Given the description of an element on the screen output the (x, y) to click on. 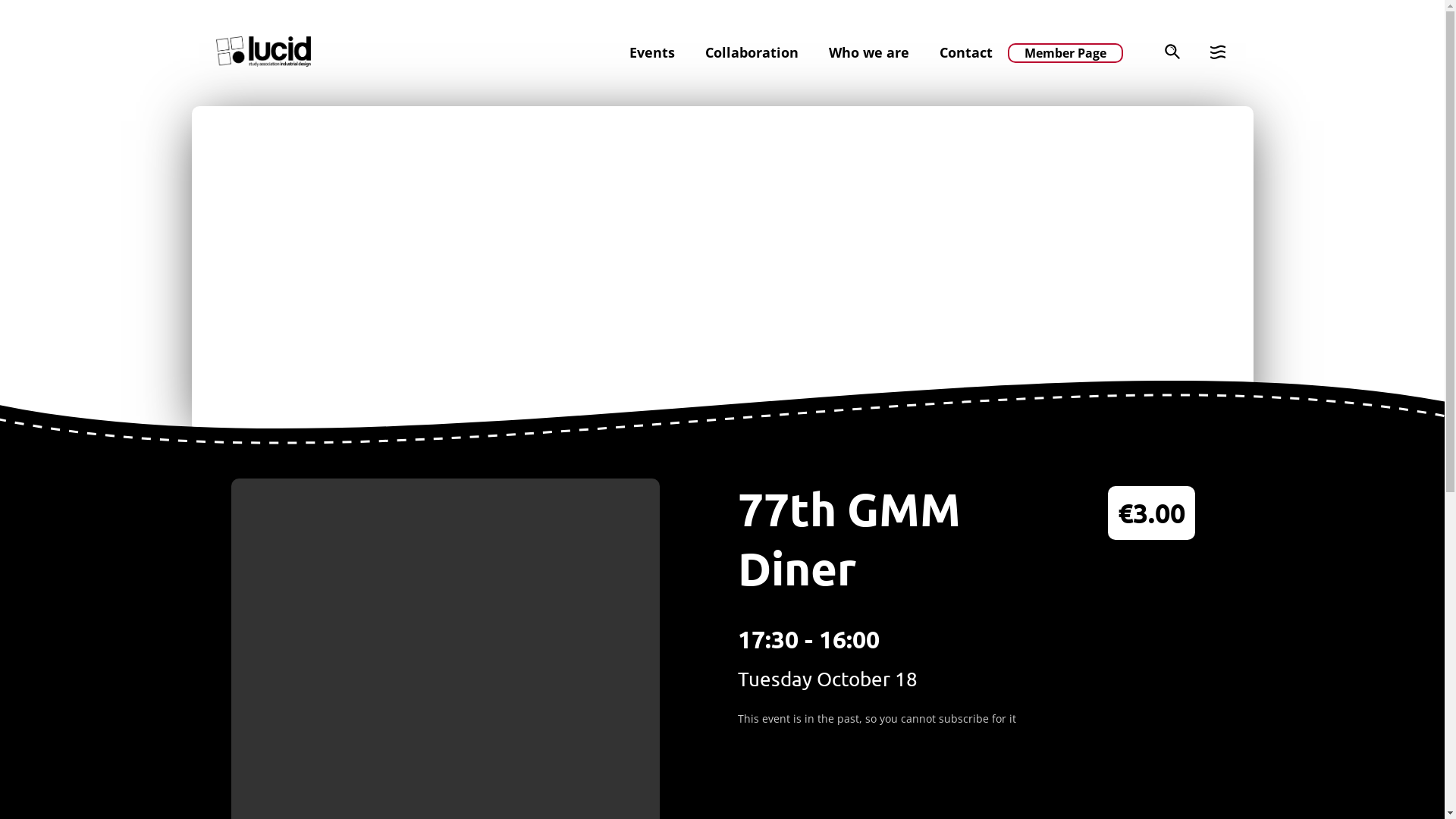
Member Page Element type: text (1064, 52)
Contact Element type: text (964, 52)
Events Element type: text (651, 52)
Who we are Element type: text (868, 52)
